Given the description of an element on the screen output the (x, y) to click on. 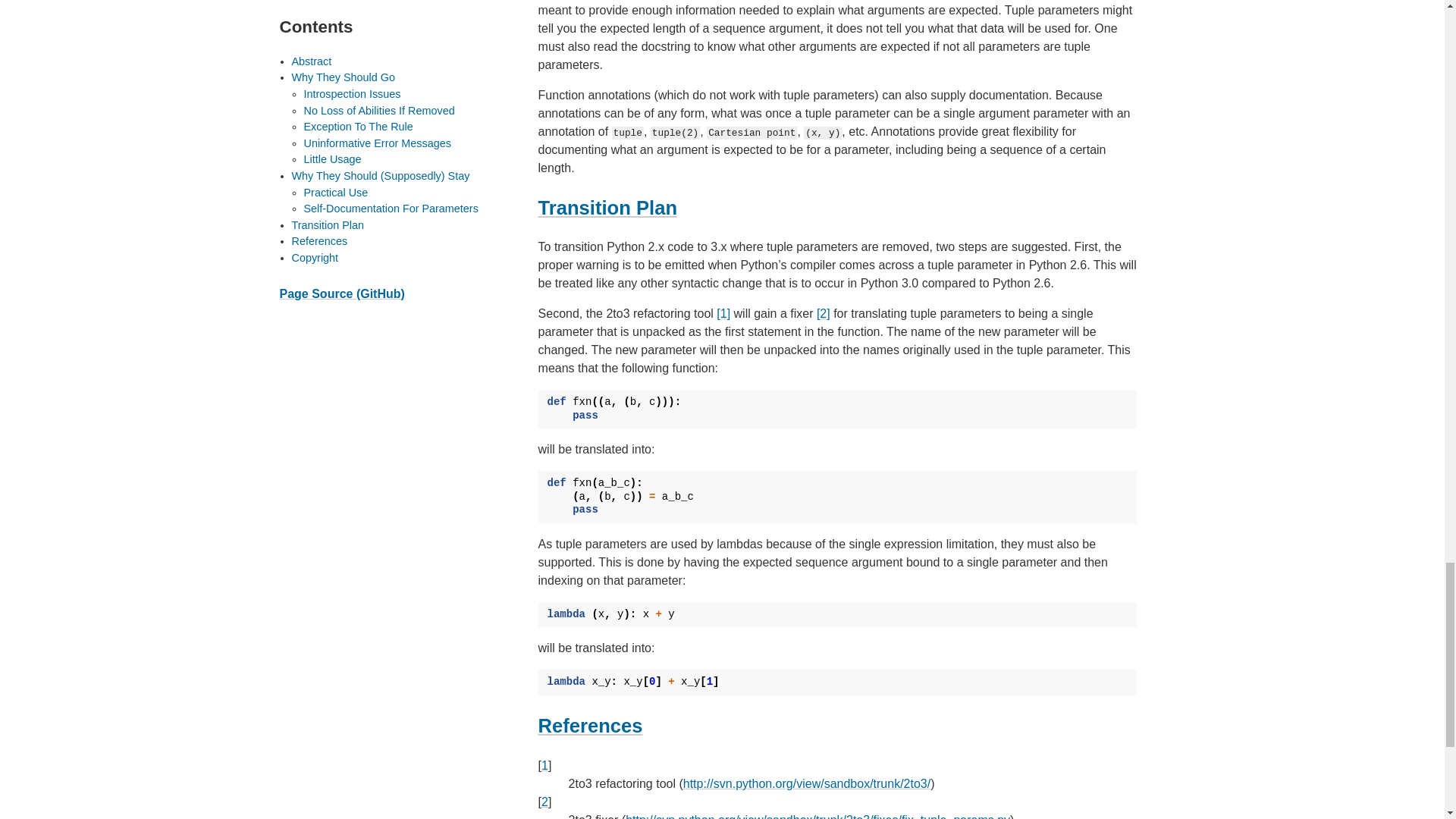
Transition Plan (607, 207)
References (590, 725)
